Given the description of an element on the screen output the (x, y) to click on. 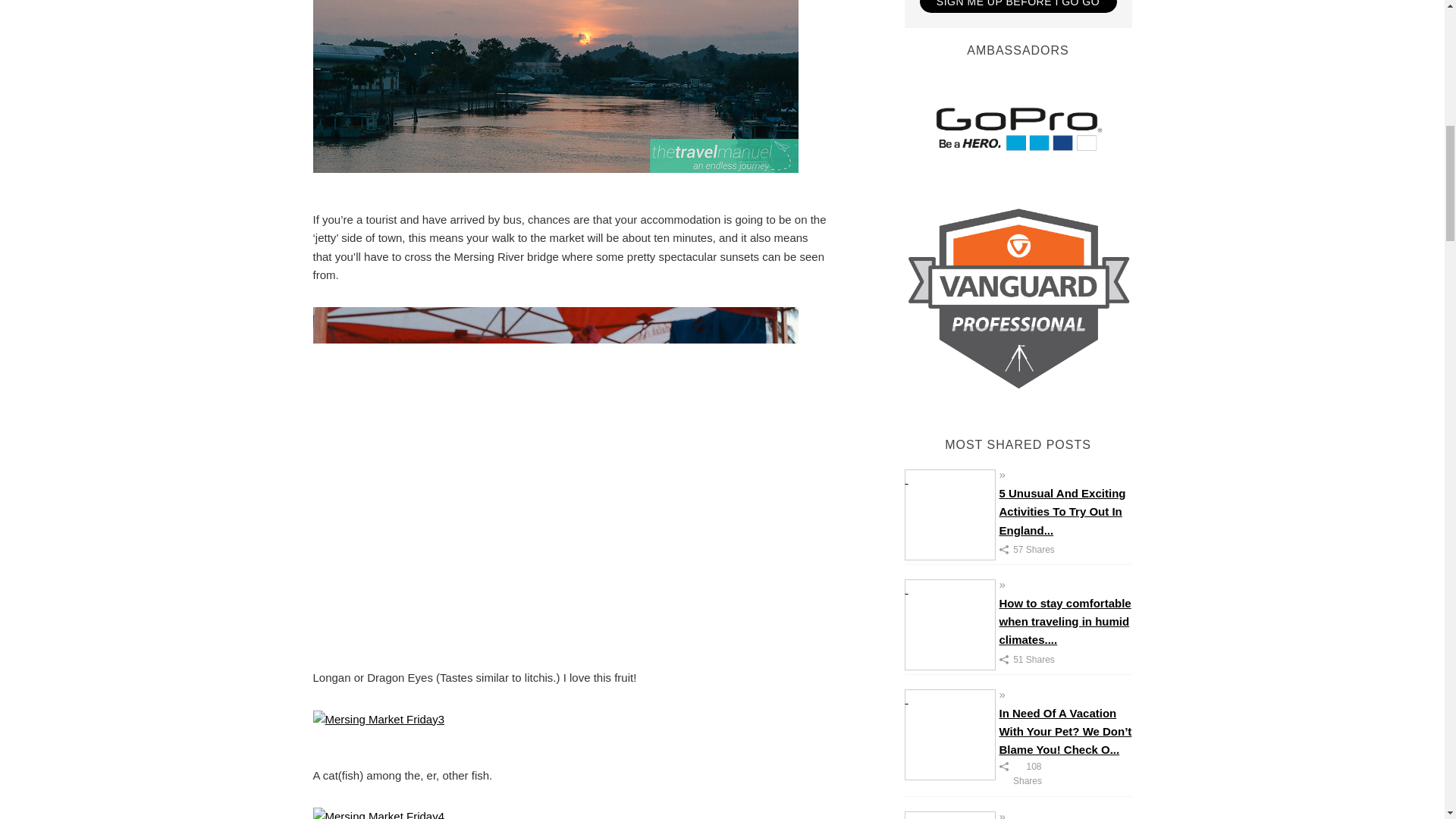
Mersing Market Friday3 by The Travel Manuel, on Flickr (378, 725)
SIGN ME UP BEFORE I GO GO (1017, 6)
Mersing Market Friday4 by The Travel Manuel, on Flickr (378, 818)
Mersing Market Friday2 by The Travel Manuel, on Flickr (555, 475)
Mersing Market Friday1 by The Travel Manuel, on Flickr (555, 16)
